Given the description of an element on the screen output the (x, y) to click on. 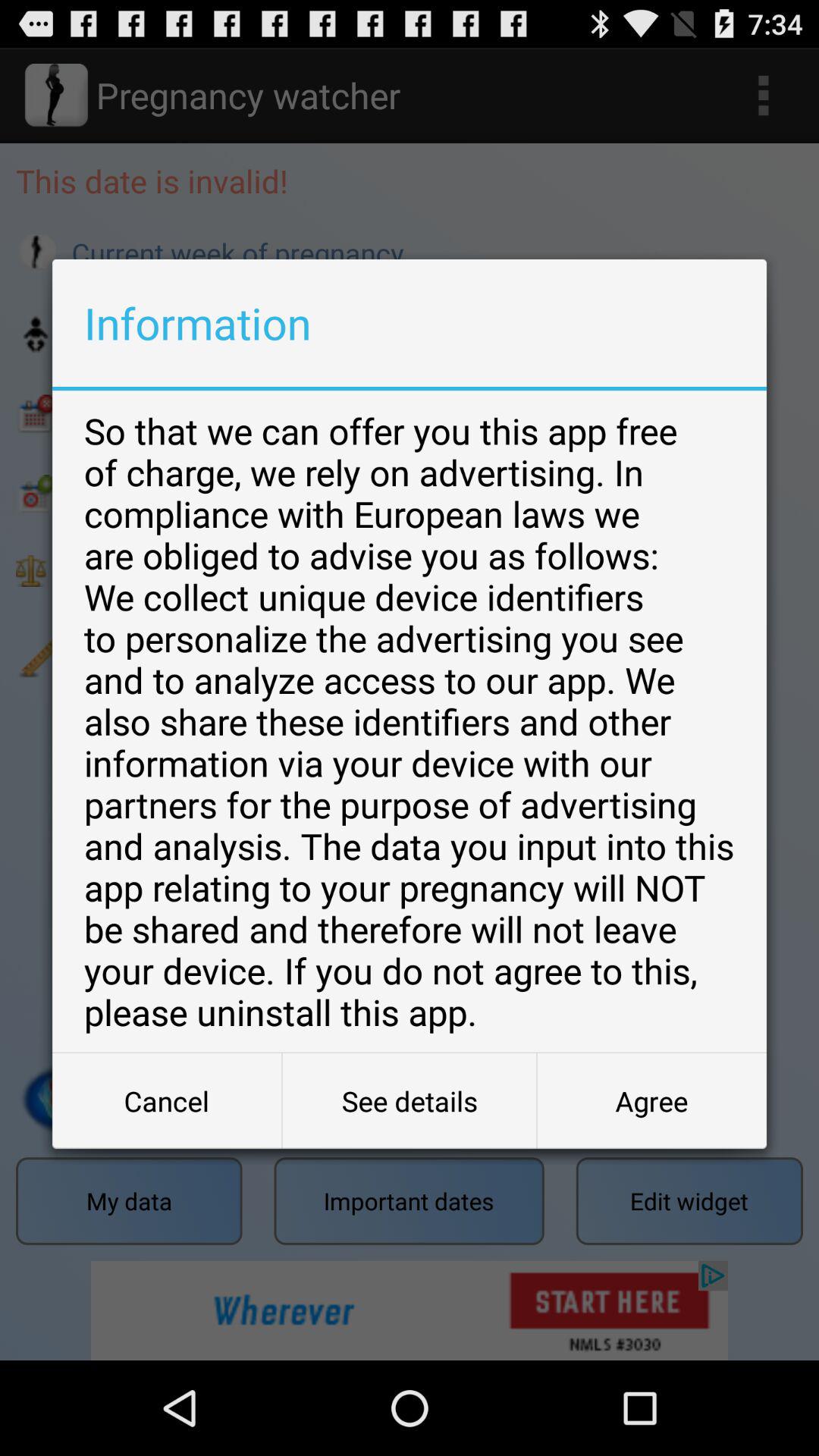
launch the icon at the bottom (409, 1100)
